Given the description of an element on the screen output the (x, y) to click on. 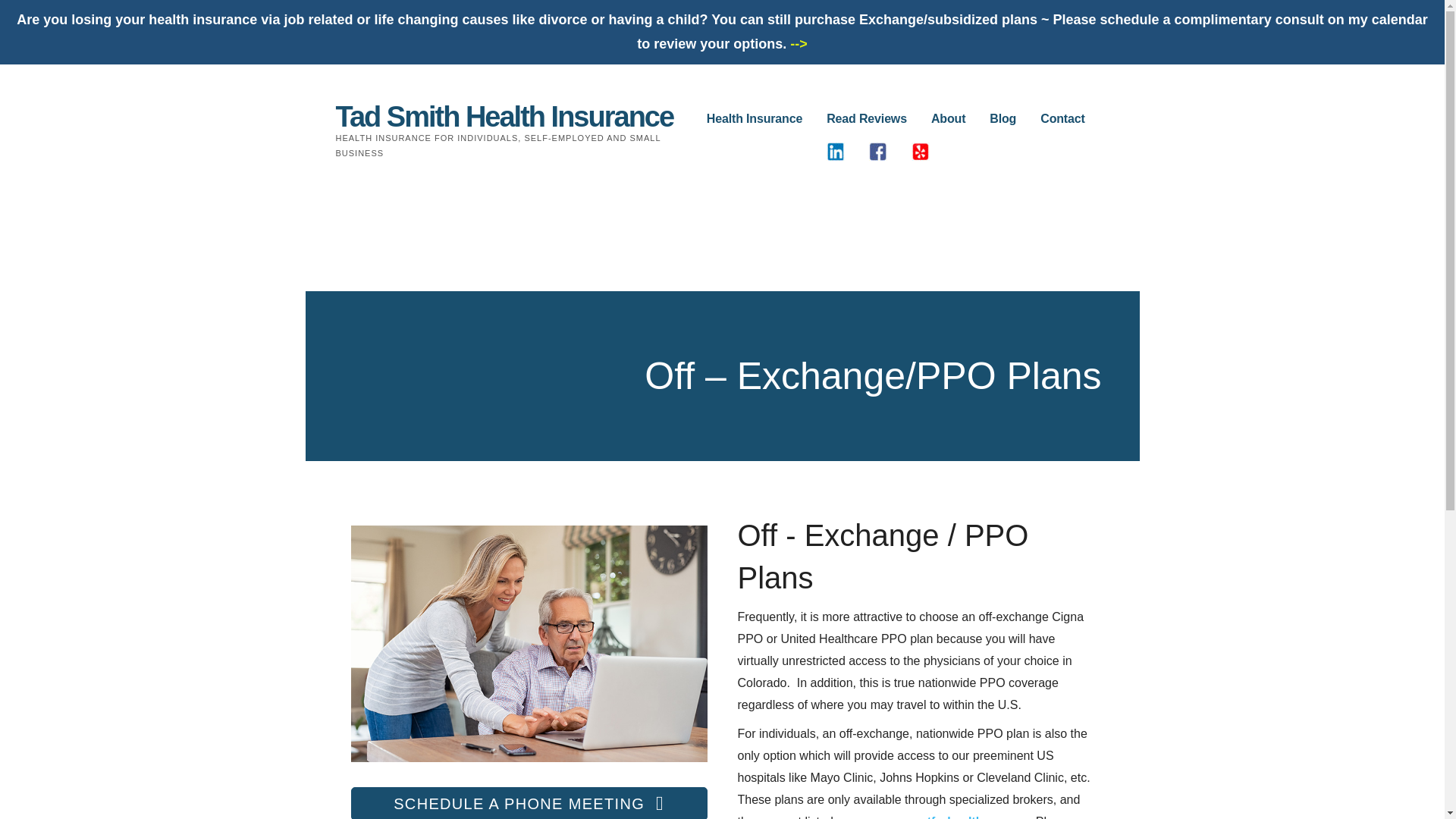
Health Insurance (754, 119)
www.connectforhealthco.com (939, 816)
Tad Smith Health Insurance (503, 116)
About (948, 119)
Contact (1062, 119)
SCHEDULE A PHONE MEETING (528, 803)
Read Reviews (867, 119)
